Given the description of an element on the screen output the (x, y) to click on. 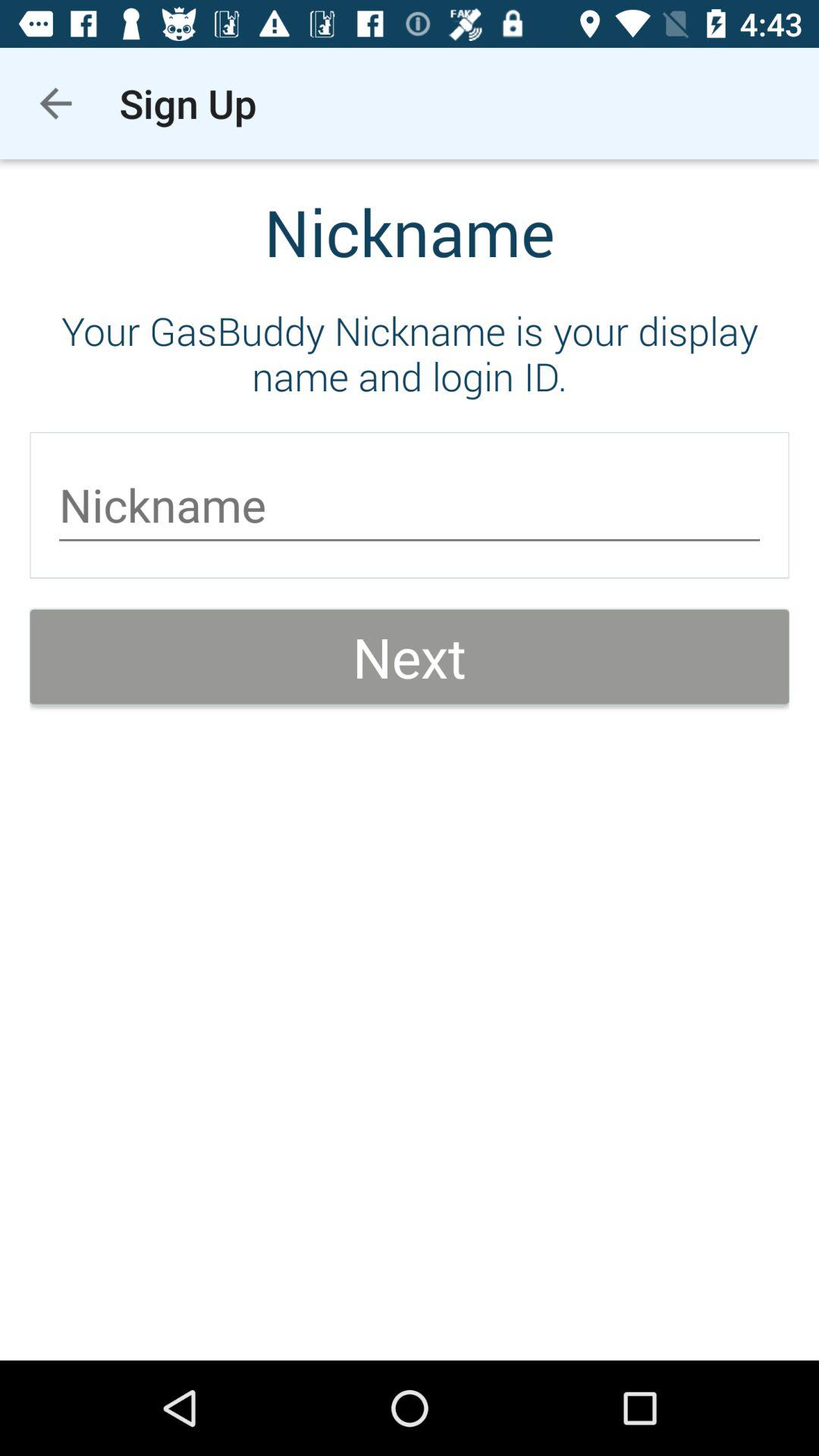
turn off next item (409, 656)
